Given the description of an element on the screen output the (x, y) to click on. 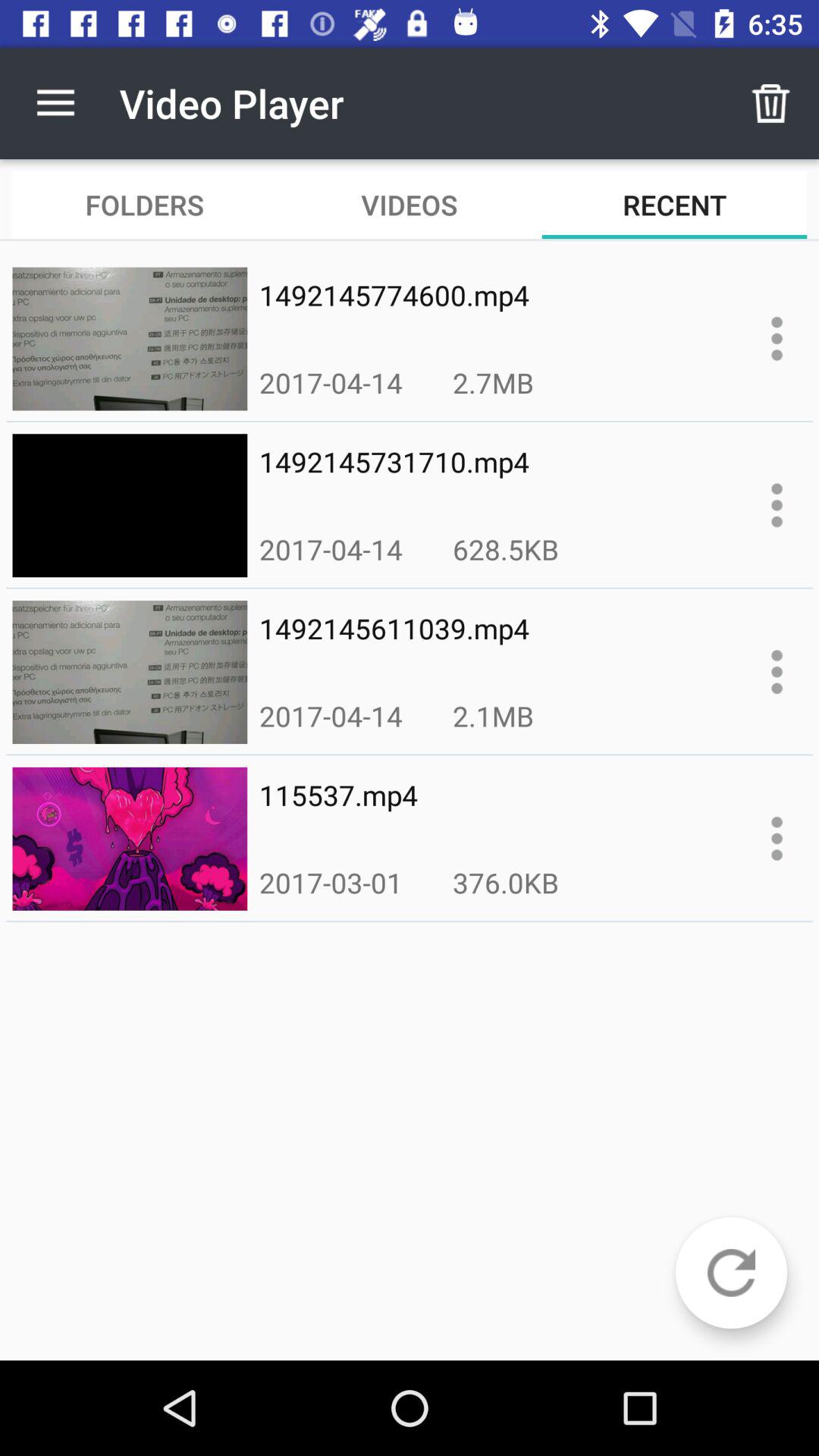
click for more options (776, 838)
